Given the description of an element on the screen output the (x, y) to click on. 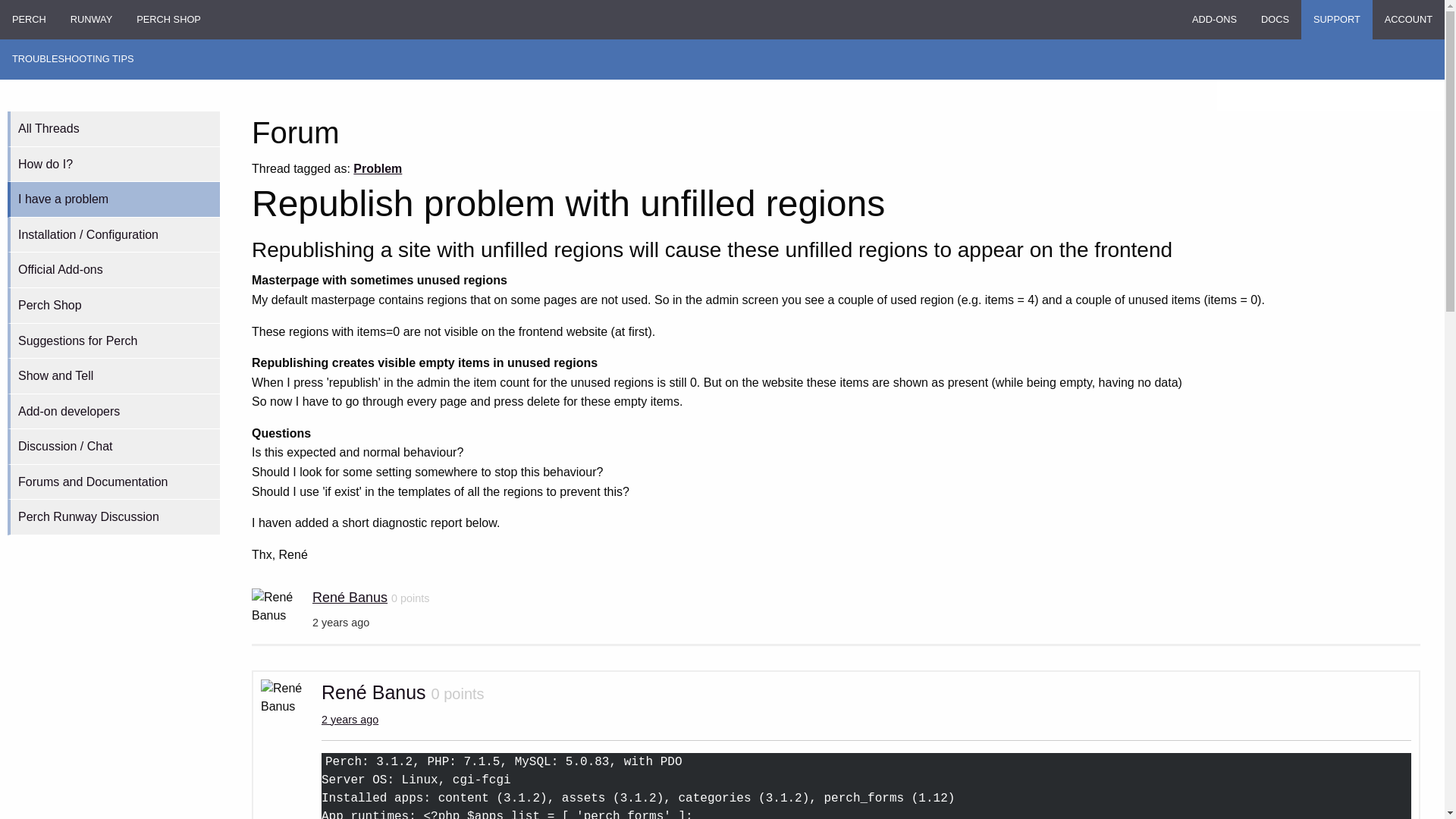
Official Add-ons (113, 270)
2 years ago (349, 719)
SUPPORT (1337, 19)
DOCS (1275, 19)
All Threads (113, 129)
TROUBLESHOOTING TIPS (72, 58)
PERCH SHOP (167, 19)
Problem (377, 168)
Show and Tell (113, 375)
PERCH (29, 19)
